Given the description of an element on the screen output the (x, y) to click on. 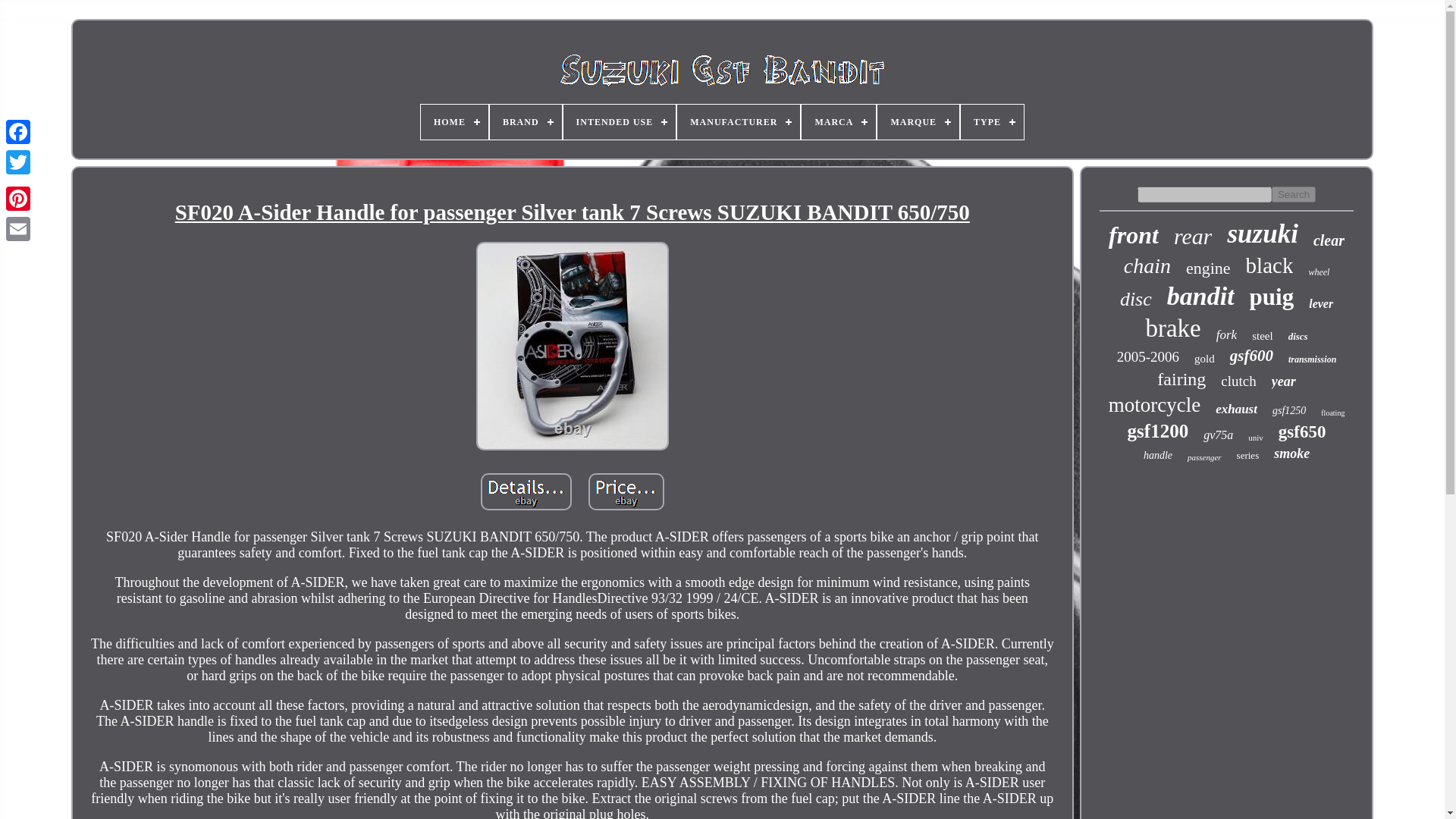
BRAND (525, 121)
Search (1293, 194)
MANUFACTURER (738, 121)
HOME (453, 121)
INTENDED USE (620, 121)
